Given the description of an element on the screen output the (x, y) to click on. 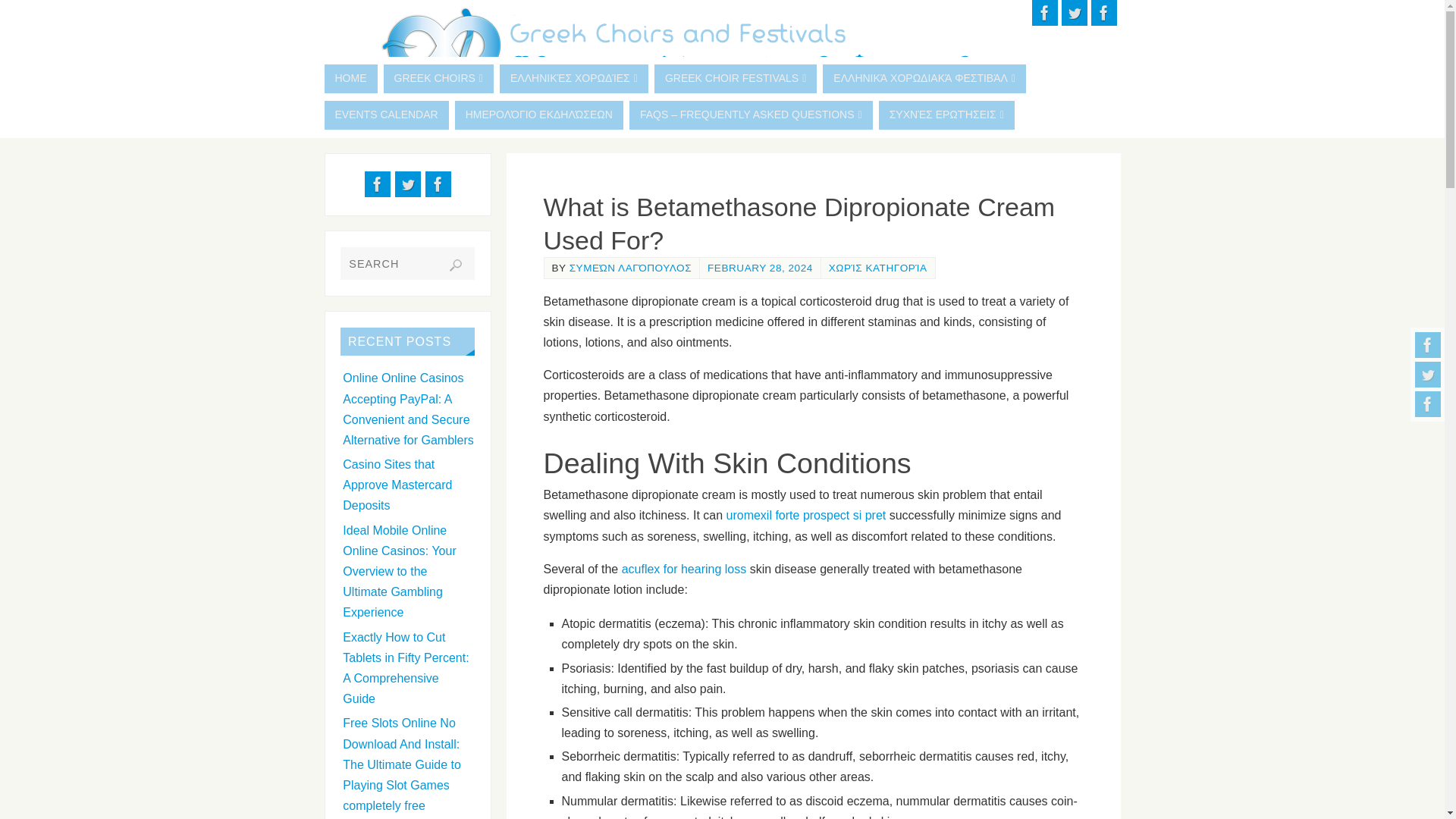
GREEK CHOIRS (438, 78)
HOME (350, 78)
FEBRUARY 28, 2024 (759, 267)
Twitter (407, 184)
EVENTS CALENDAR (386, 114)
Twitter (1428, 374)
GREEK CHOIR FESTIVALS (734, 78)
Twitter (1074, 12)
